Given the description of an element on the screen output the (x, y) to click on. 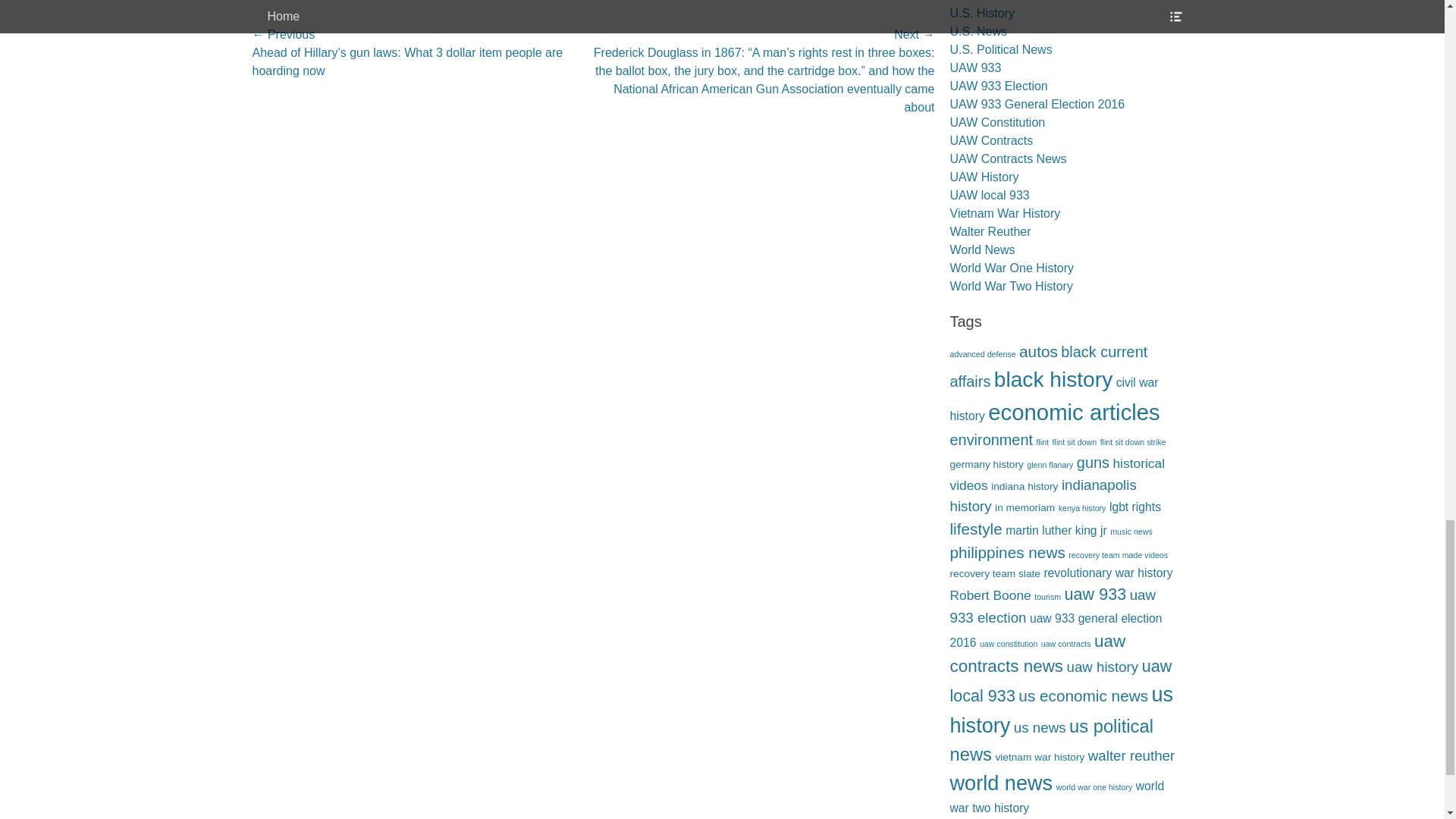
2 topics (986, 464)
1 topic (1133, 441)
21 topics (1053, 379)
3 topics (1053, 398)
25 topics (1074, 412)
7 topics (1038, 351)
1 topic (981, 353)
6 topics (1048, 366)
6 topics (990, 439)
1 topic (1041, 441)
